Given the description of an element on the screen output the (x, y) to click on. 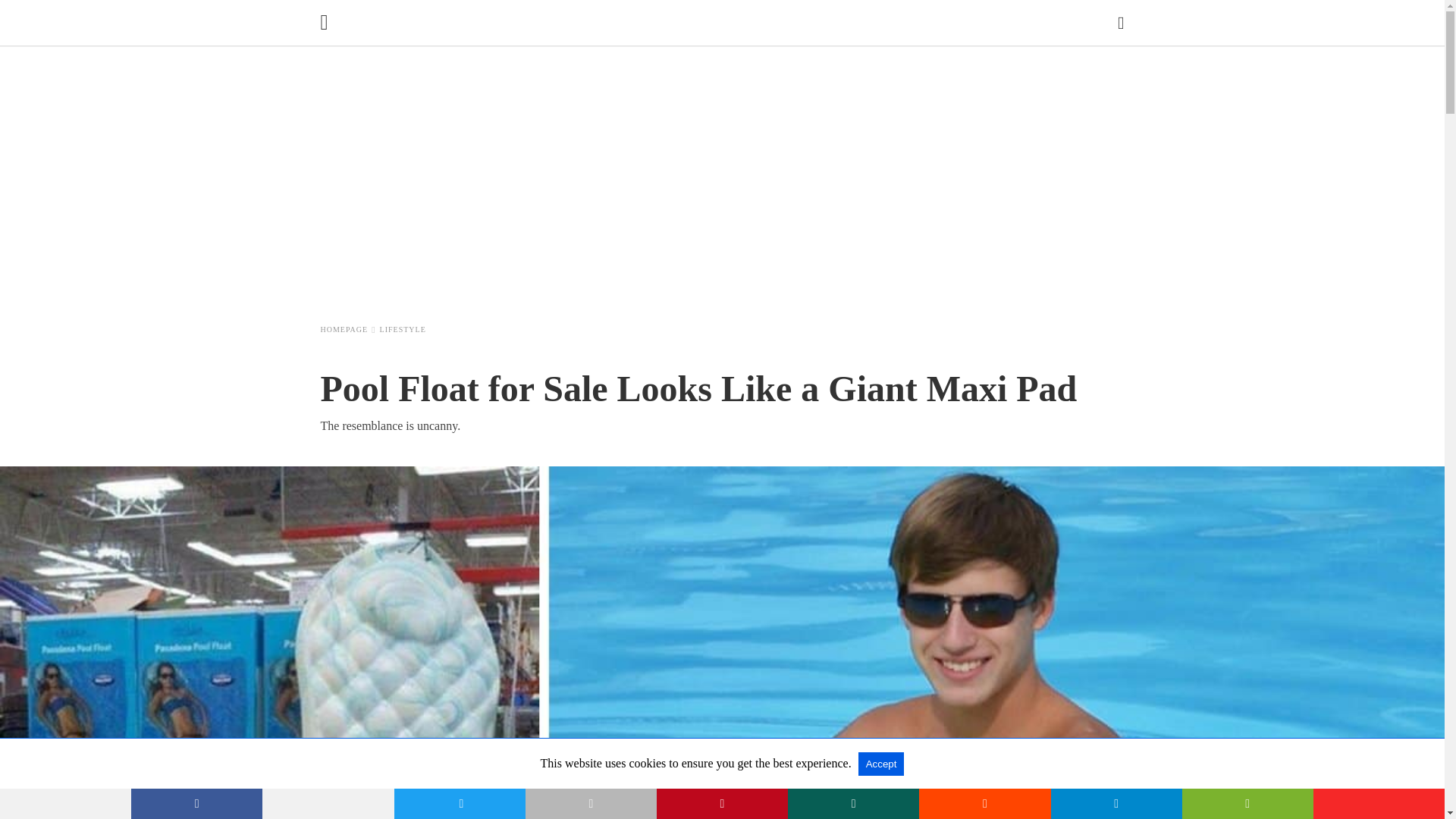
LIFESTYLE (403, 329)
Elite Readers (726, 24)
Homepage (347, 329)
Lifestyle (403, 329)
HOMEPAGE (347, 329)
